Given the description of an element on the screen output the (x, y) to click on. 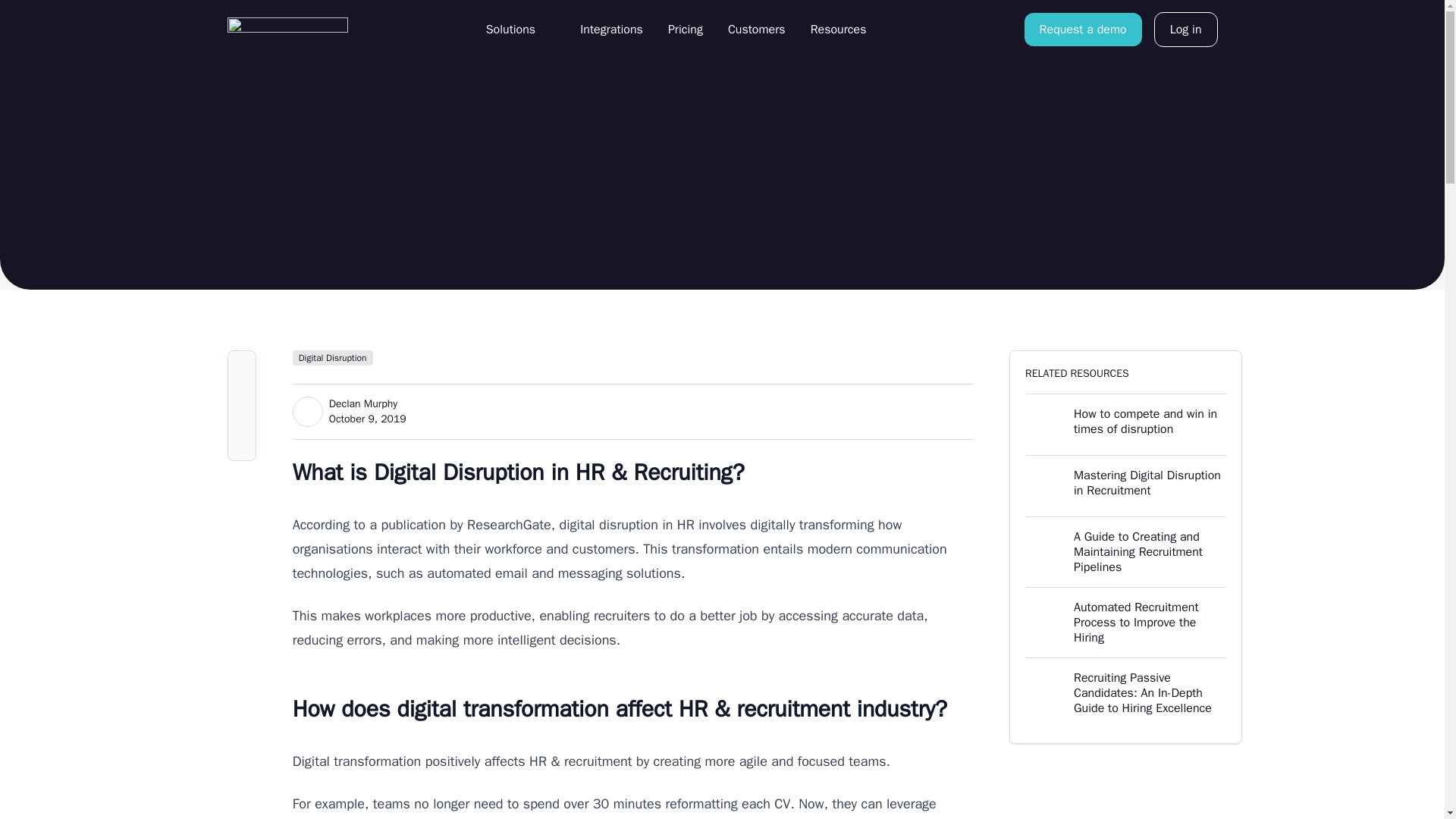
Open (544, 29)
Mastering Digital Disruption in Recruitment (1125, 485)
Home (847, 29)
How to compete and win in times of disruption (287, 29)
Integrations (1125, 424)
Digital Disruption (611, 29)
Customers (332, 357)
Automated Recruitment Process to Improve the Hiring (756, 29)
Log in (1125, 622)
Pricing (1185, 29)
Request a demo (685, 29)
Open (520, 29)
A Guide to Creating and Maintaining Recruitment Pipelines (1083, 29)
